Given the description of an element on the screen output the (x, y) to click on. 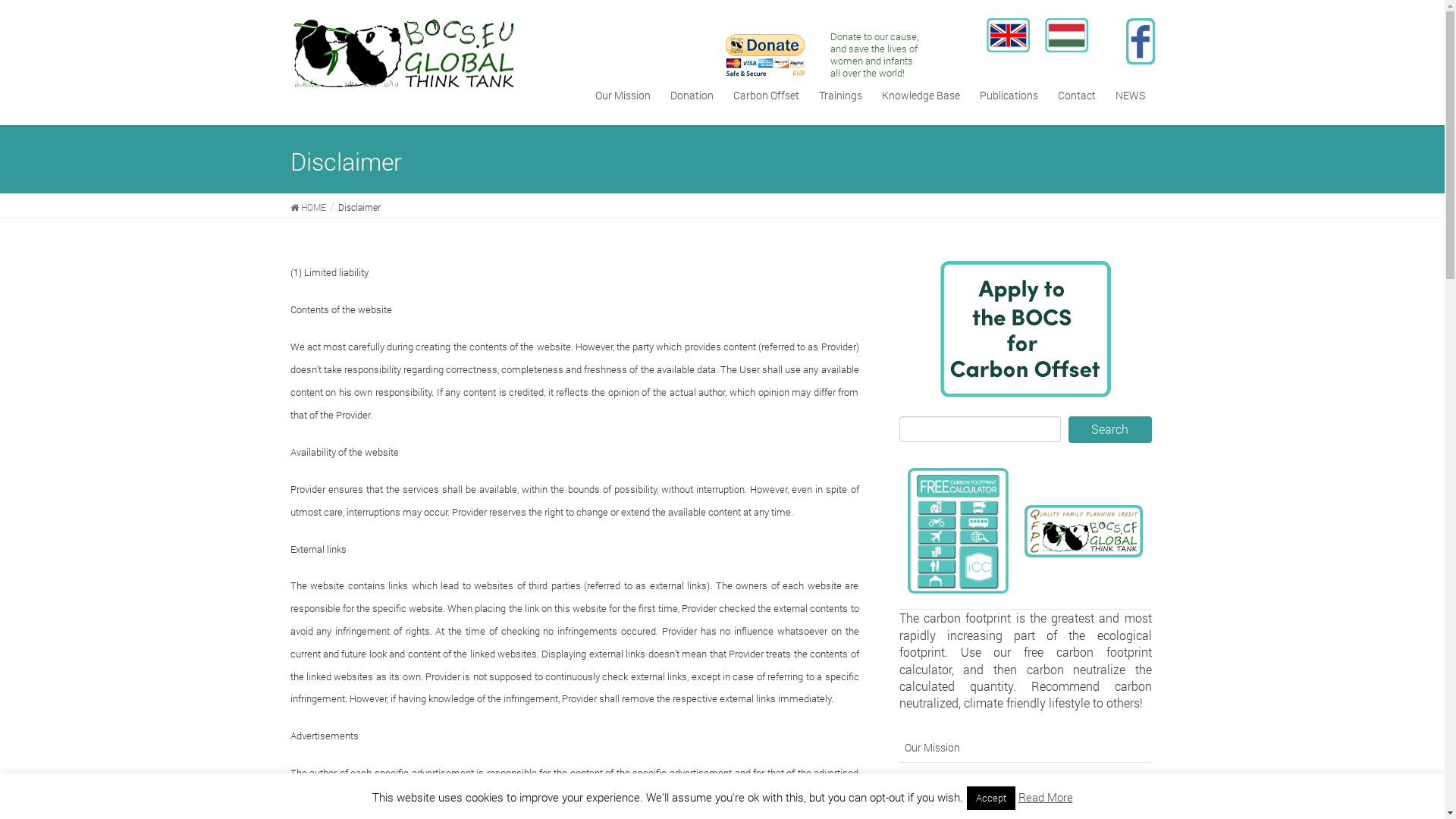
NEWS Element type: text (1129, 94)
Carbon Offset Element type: text (766, 94)
BOCS.CF Element type: hover (1007, 35)
Read More Element type: text (1044, 796)
Carbon Footprint Calculator - BOCS.CF Element type: hover (957, 530)
Trainings Element type: text (839, 94)
HOME Element type: text (307, 206)
BOCS.EU Element type: hover (1066, 35)
Search Element type: text (1109, 429)
Apply to the BOCS for carbon offset >> Element type: hover (1025, 328)
About BOCS Element type: text (1025, 778)
Accept Element type: text (990, 797)
Publications Element type: text (1008, 94)
Contact Element type: text (1076, 94)
Knowledge Base Element type: text (920, 94)
Donation Element type: text (690, 94)
Our Mission Element type: text (622, 94)
Our Mission Element type: text (1025, 746)
QFPC carbon credit - BOCS.CF >> Element type: hover (1083, 531)
BOCS.EU - Facebook >> Element type: hover (1139, 41)
